Given the description of an element on the screen output the (x, y) to click on. 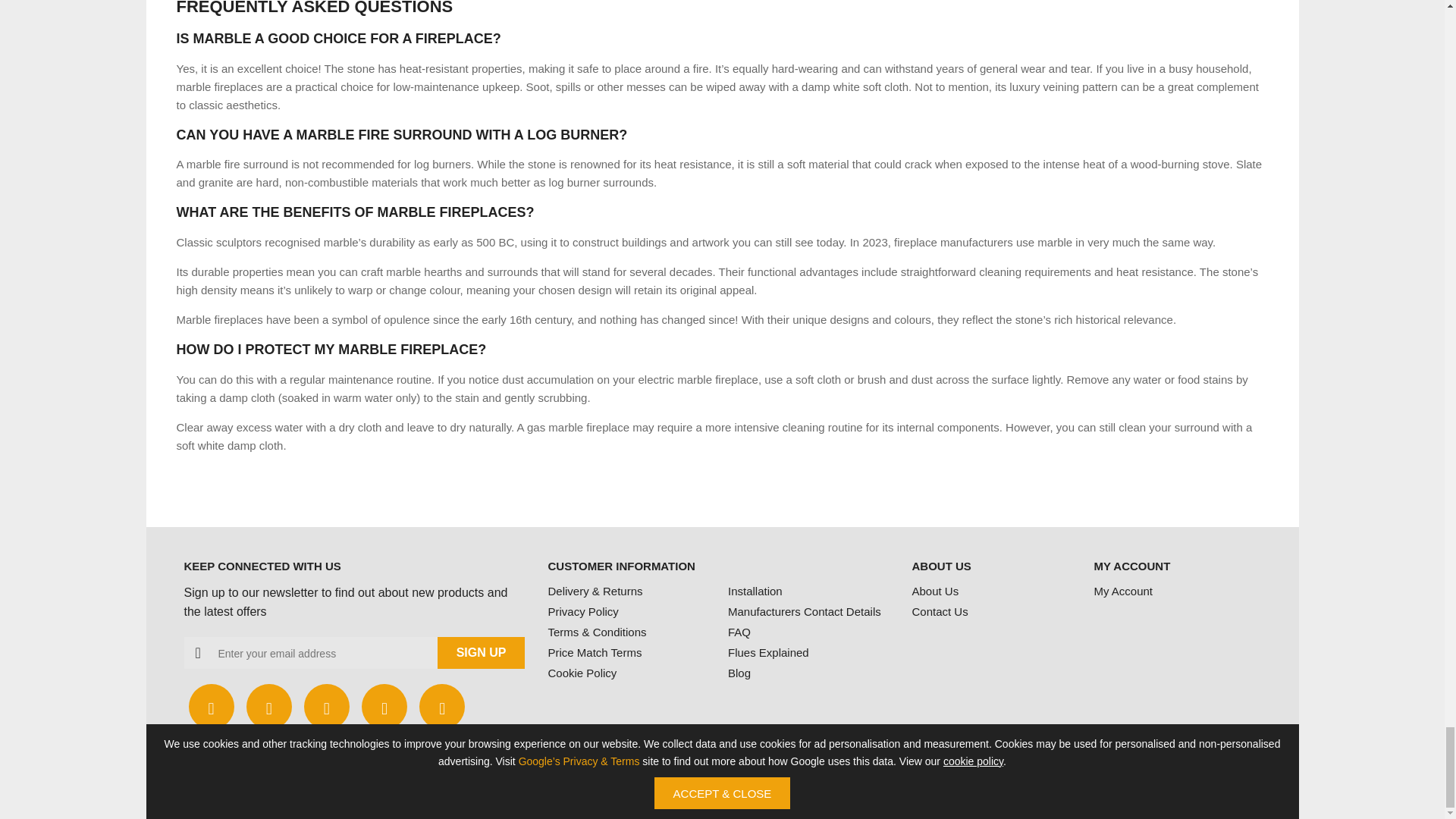
Sign Up (481, 653)
